Given the description of an element on the screen output the (x, y) to click on. 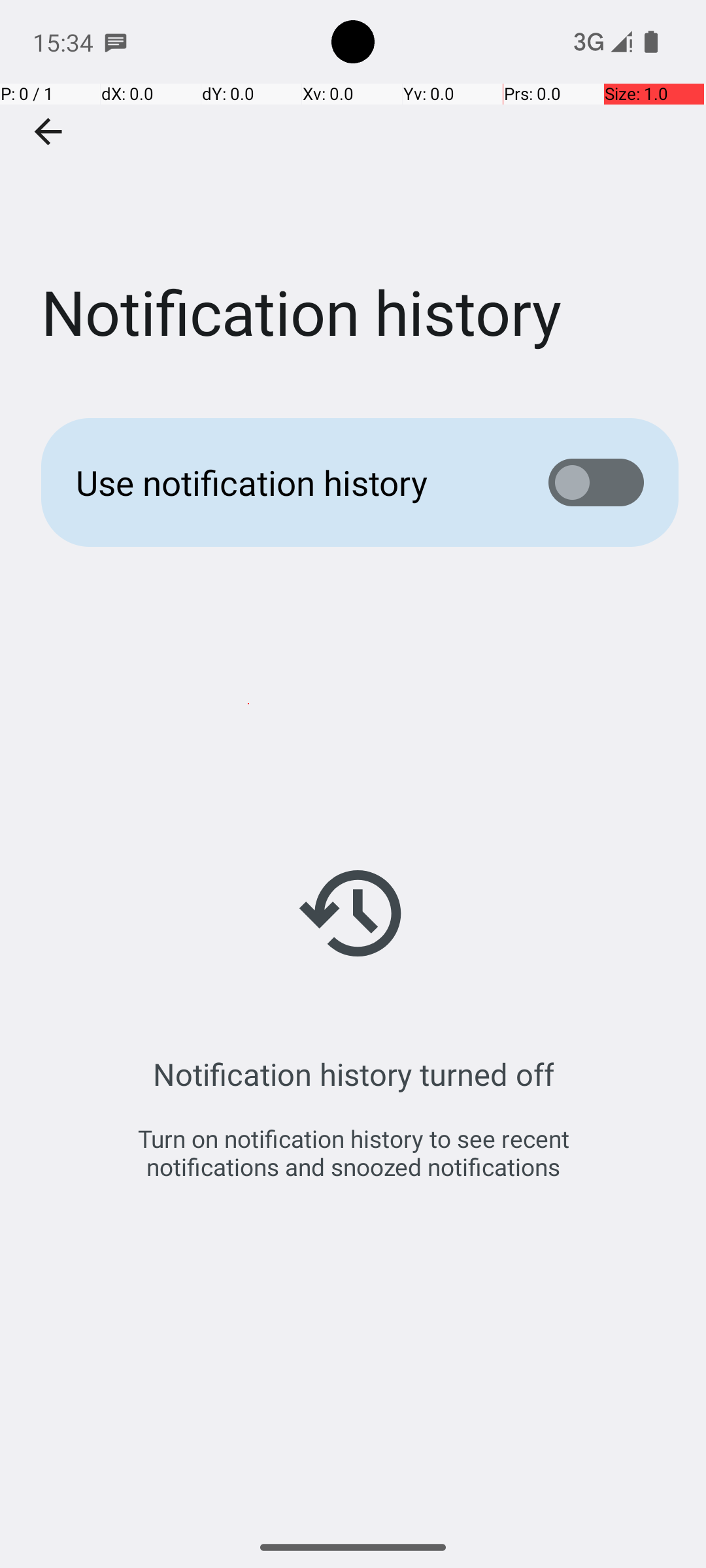
Notification history turned off Element type: android.widget.TextView (352, 1073)
Turn on notification history to see recent notifications and snoozed notifications Element type: android.widget.TextView (352, 1152)
Use notification history Element type: android.widget.TextView (291, 482)
